Given the description of an element on the screen output the (x, y) to click on. 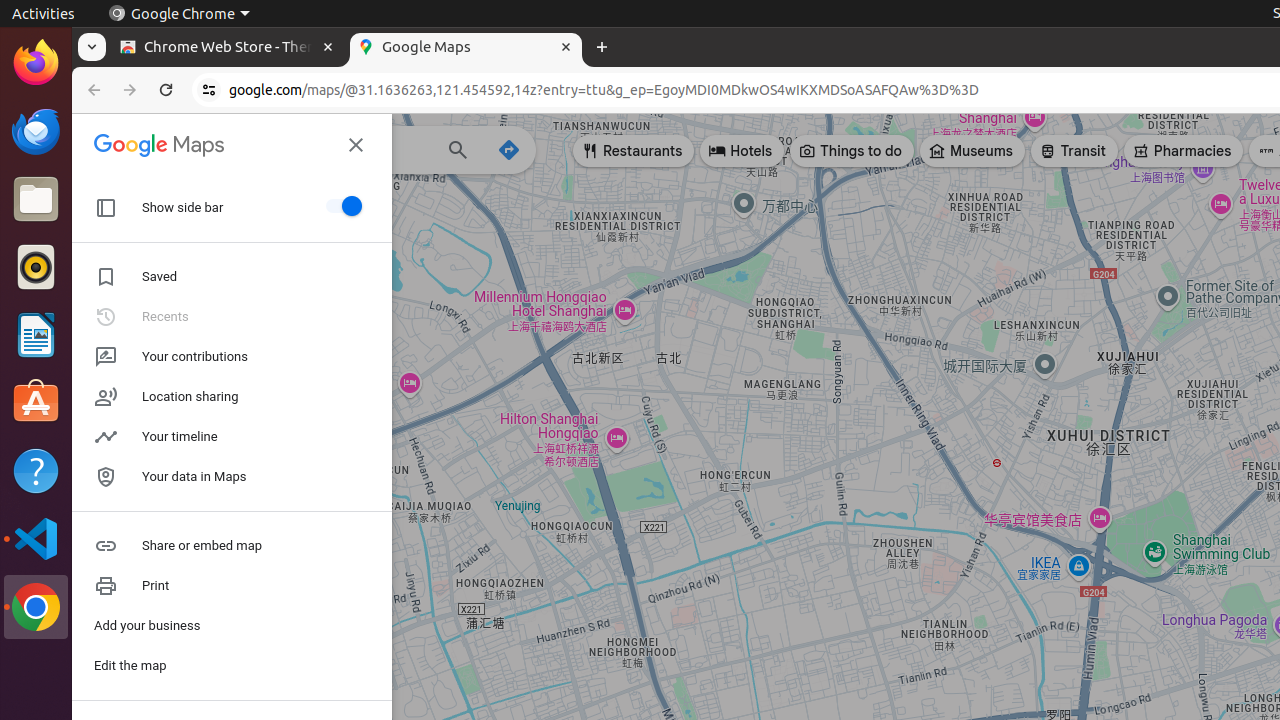
Your timeline Element type: menu-item (232, 437)
Your contributions Element type: menu-item (232, 356)
Google Chrome Element type: menu (179, 13)
Transit Element type: push-button (1074, 151)
Directions Element type: push-button (509, 149)
